Given the description of an element on the screen output the (x, y) to click on. 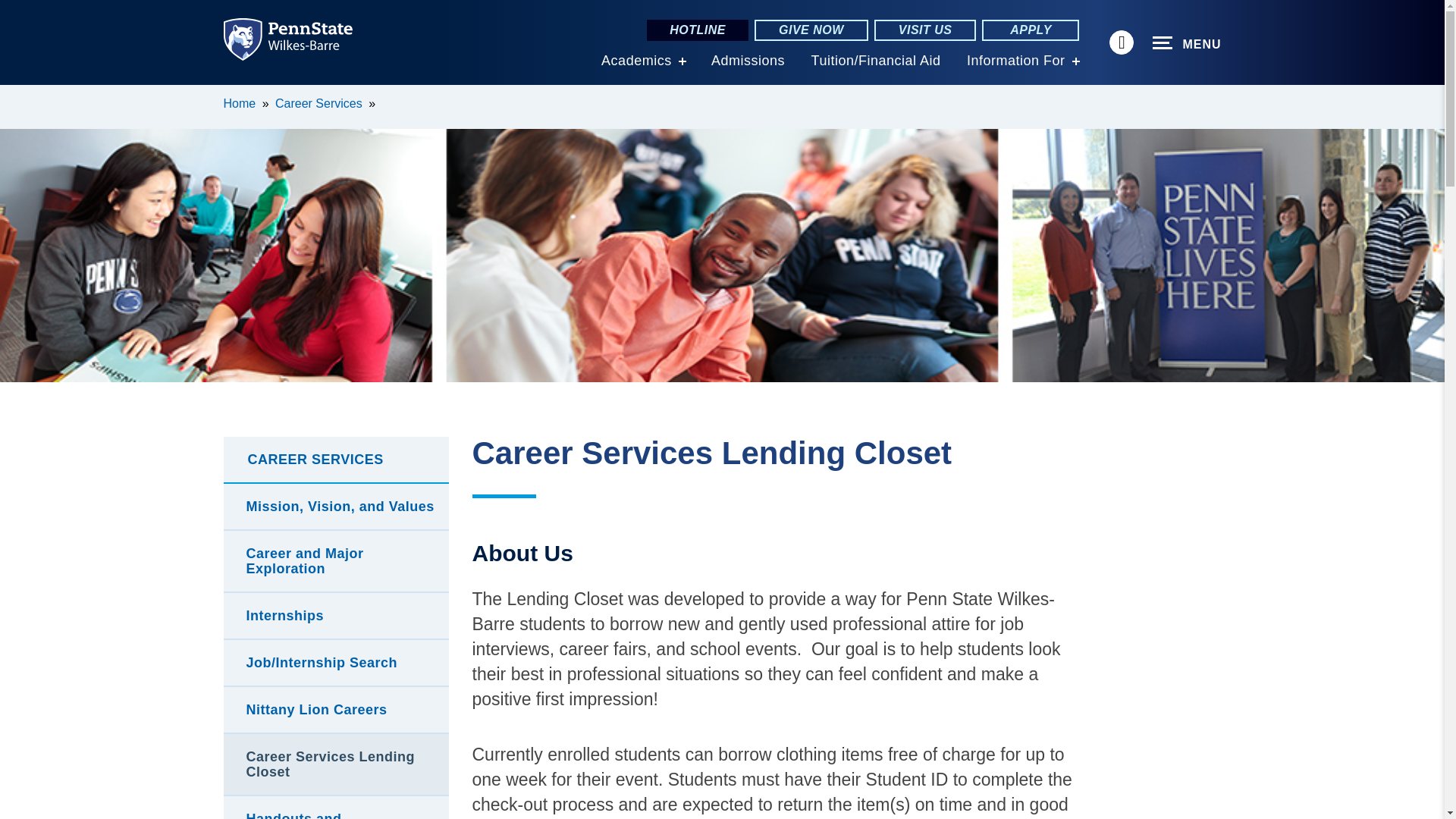
APPLY (1029, 29)
MENU (1187, 43)
VISIT US (925, 29)
SKIP TO MAIN CONTENT (19, 95)
Admissions (747, 60)
Academics (636, 60)
GIVE NOW (810, 29)
HOTLINE (697, 29)
Information For (1015, 60)
